Given the description of an element on the screen output the (x, y) to click on. 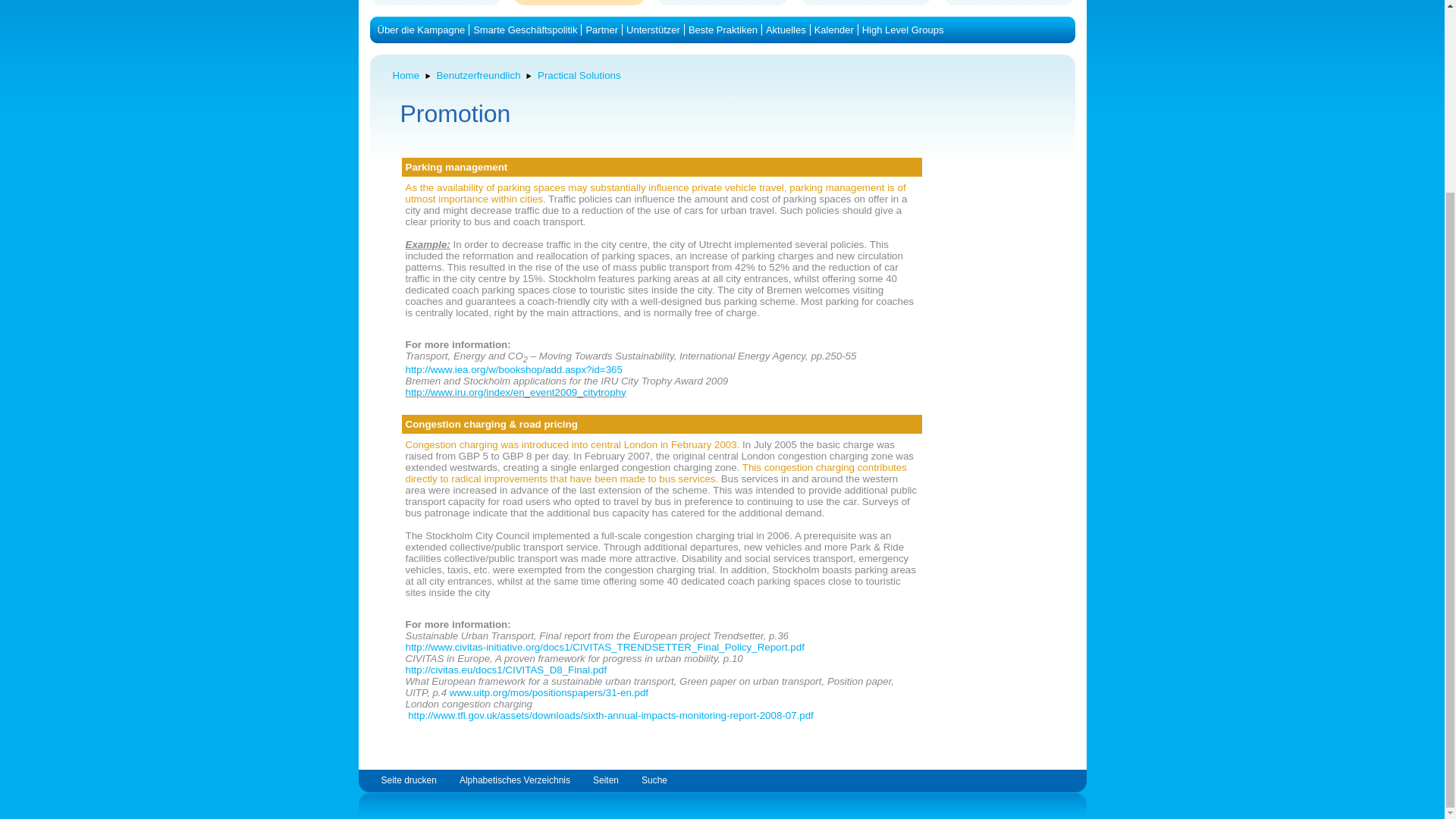
High Level Groups (902, 30)
Seiten (605, 779)
Kalender (833, 30)
Benutzerfreundlich (477, 75)
Seite drucken (407, 779)
Beste Praktiken (722, 30)
Aktuelles (785, 30)
Partner (601, 30)
Seite drucken (407, 779)
Suche (654, 779)
